Given the description of an element on the screen output the (x, y) to click on. 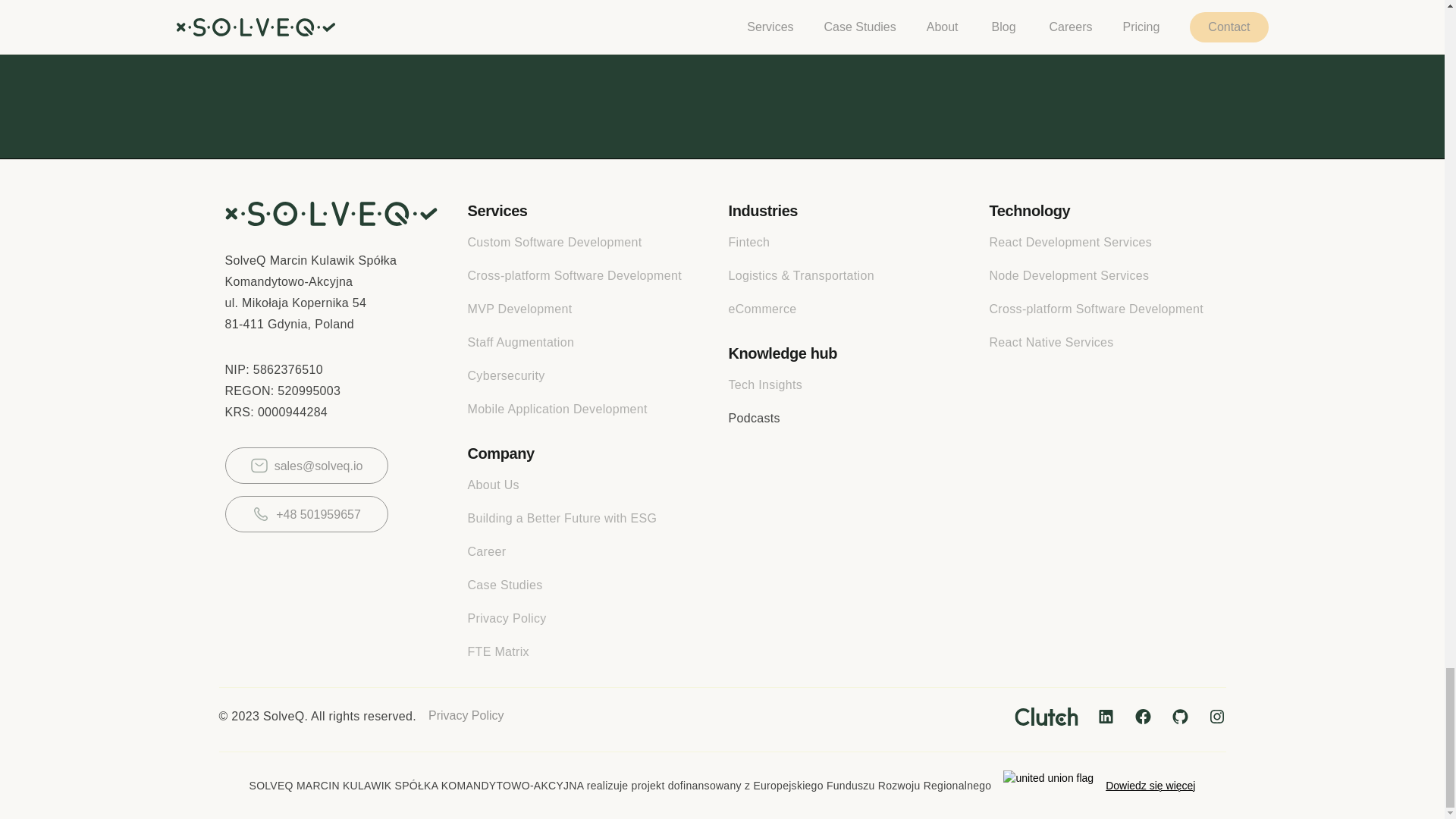
Estimate Project (722, 24)
Estimate Project (722, 24)
